Given the description of an element on the screen output the (x, y) to click on. 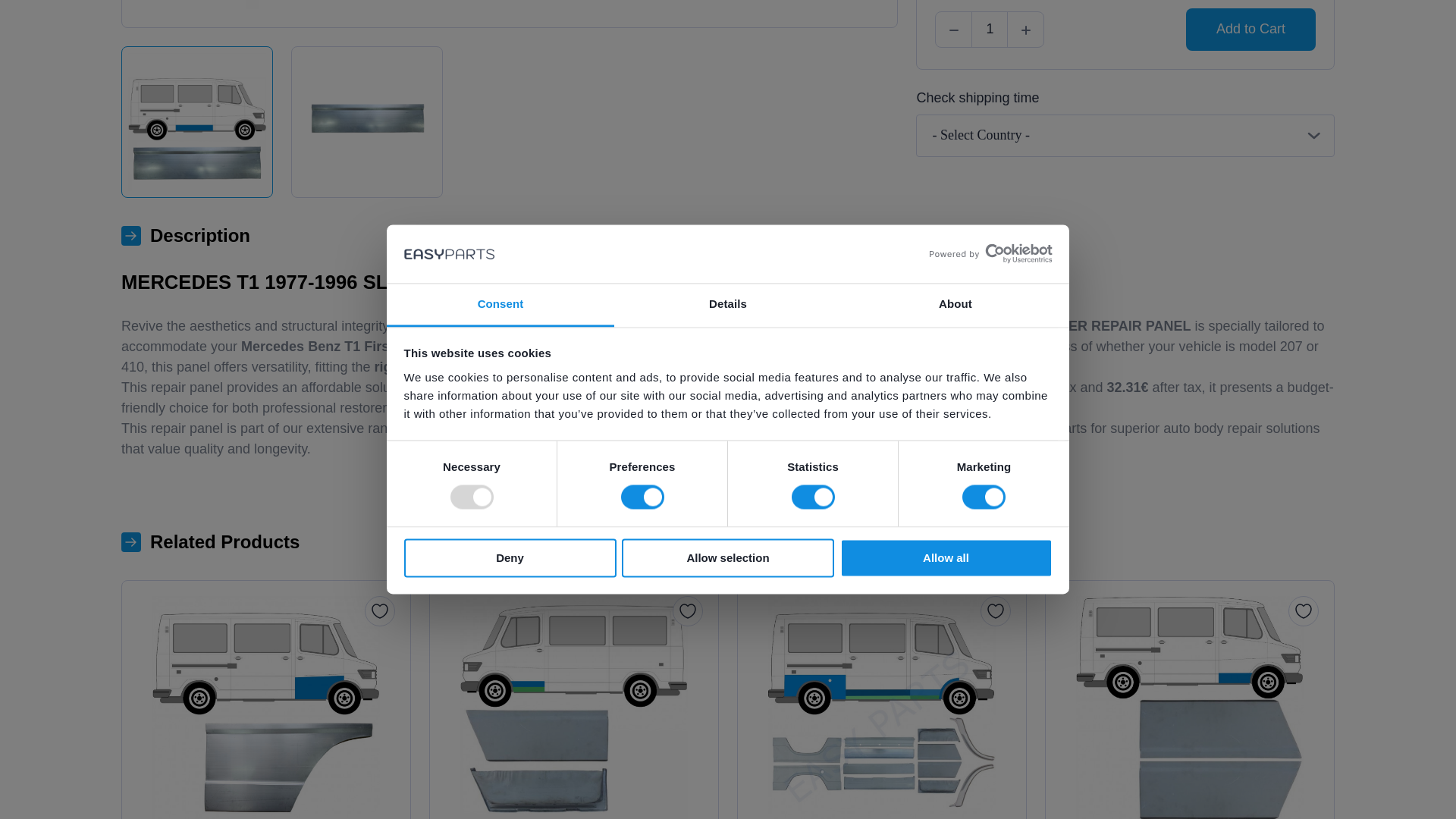
 MERCEDES T1 1977-1996 SLIDING DOOR OUTER REPAIR PANEL  (509, 4)
